Given the description of an element on the screen output the (x, y) to click on. 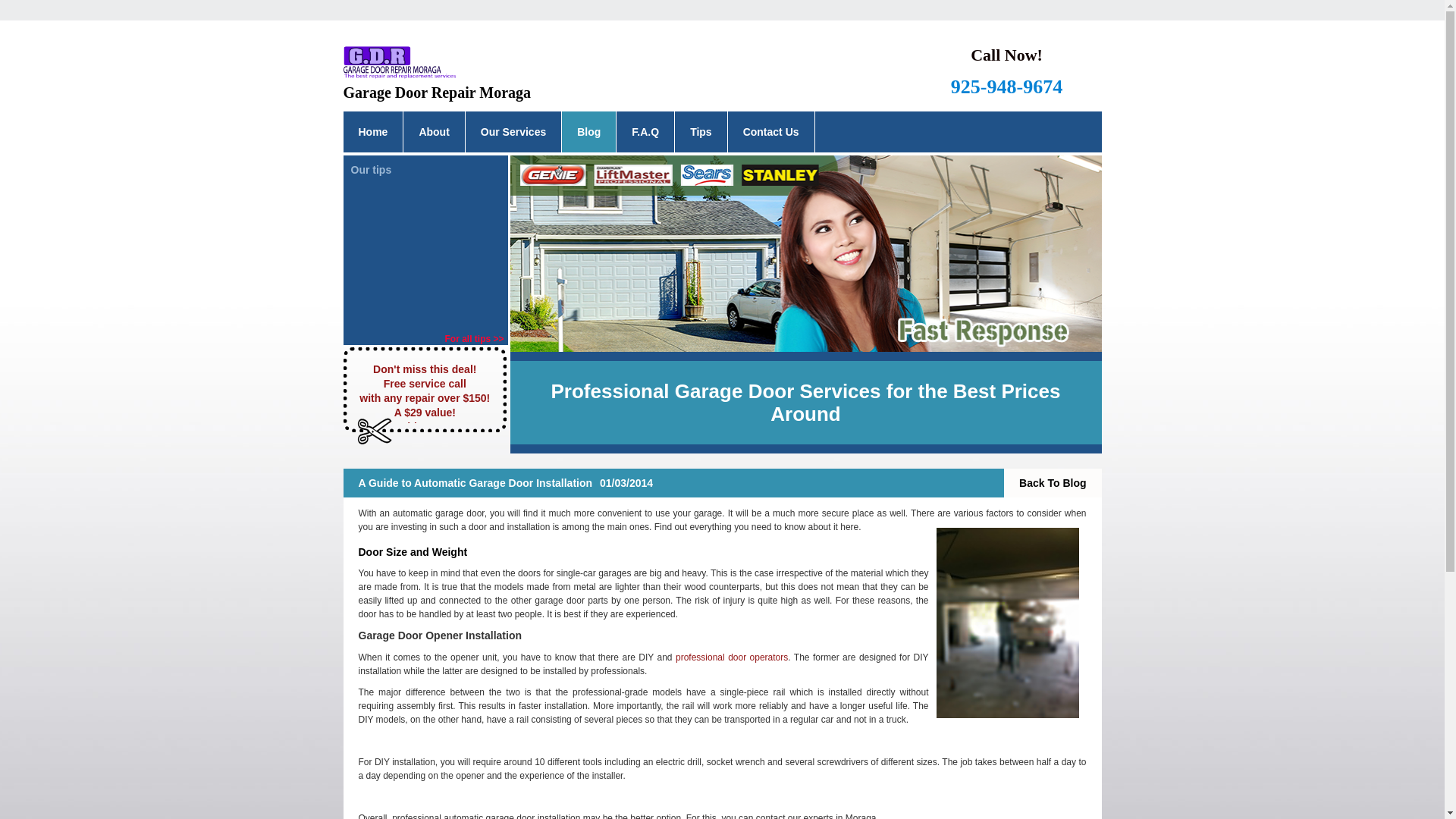
Back To Blog (1052, 482)
F.A.Q (644, 131)
Home (372, 131)
Tips (700, 131)
Our Services (512, 131)
Facebook (760, 71)
About (433, 131)
Facebook (760, 71)
Contact Us (770, 131)
professional door operators (731, 656)
